Given the description of an element on the screen output the (x, y) to click on. 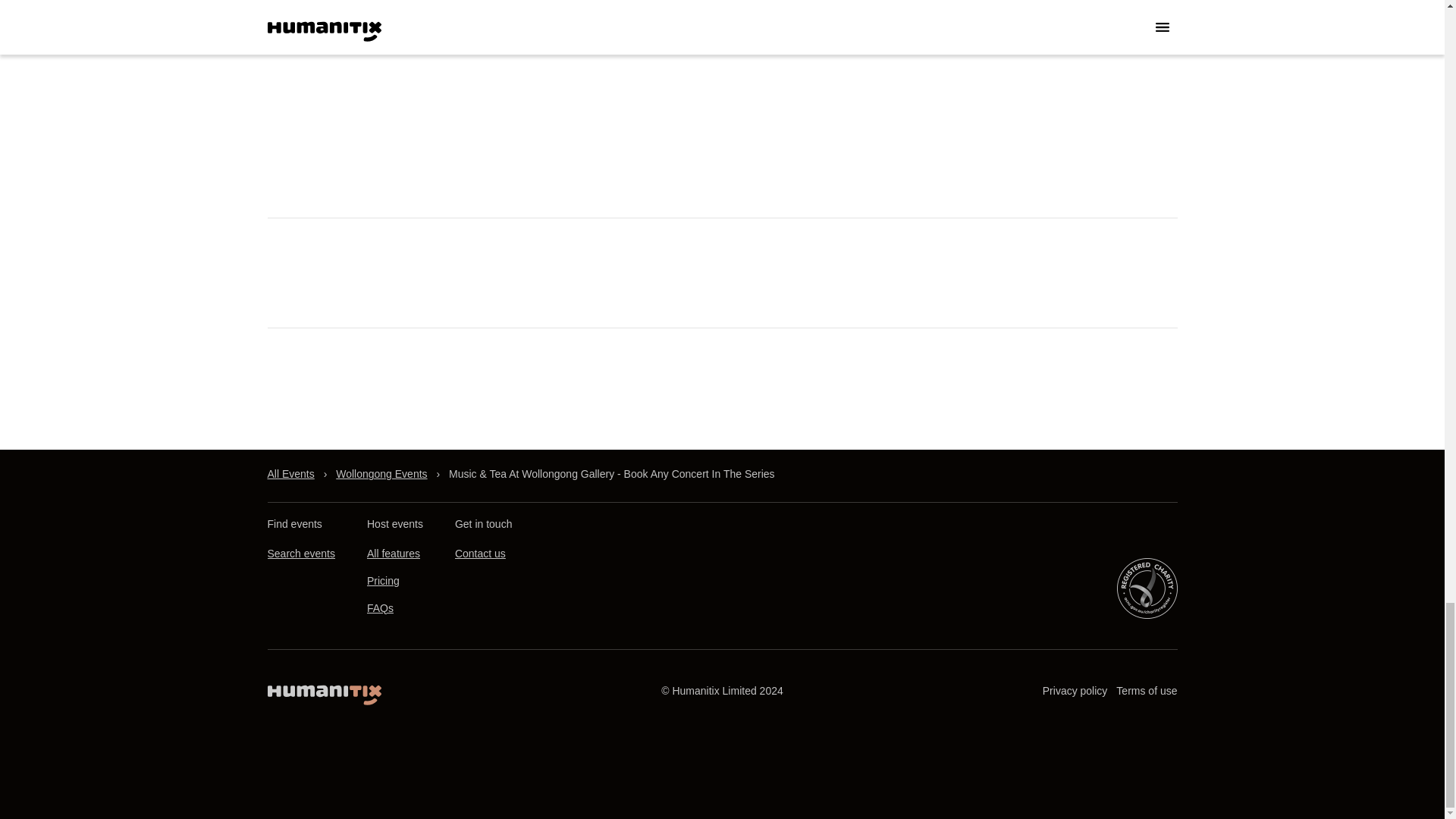
All features (393, 553)
Terms of use (1146, 690)
Privacy policy (1075, 690)
Pricing (382, 580)
FAQs (379, 607)
Search events (300, 553)
Contact us (479, 553)
All Events (290, 473)
Wollongong Events (381, 473)
